Given the description of an element on the screen output the (x, y) to click on. 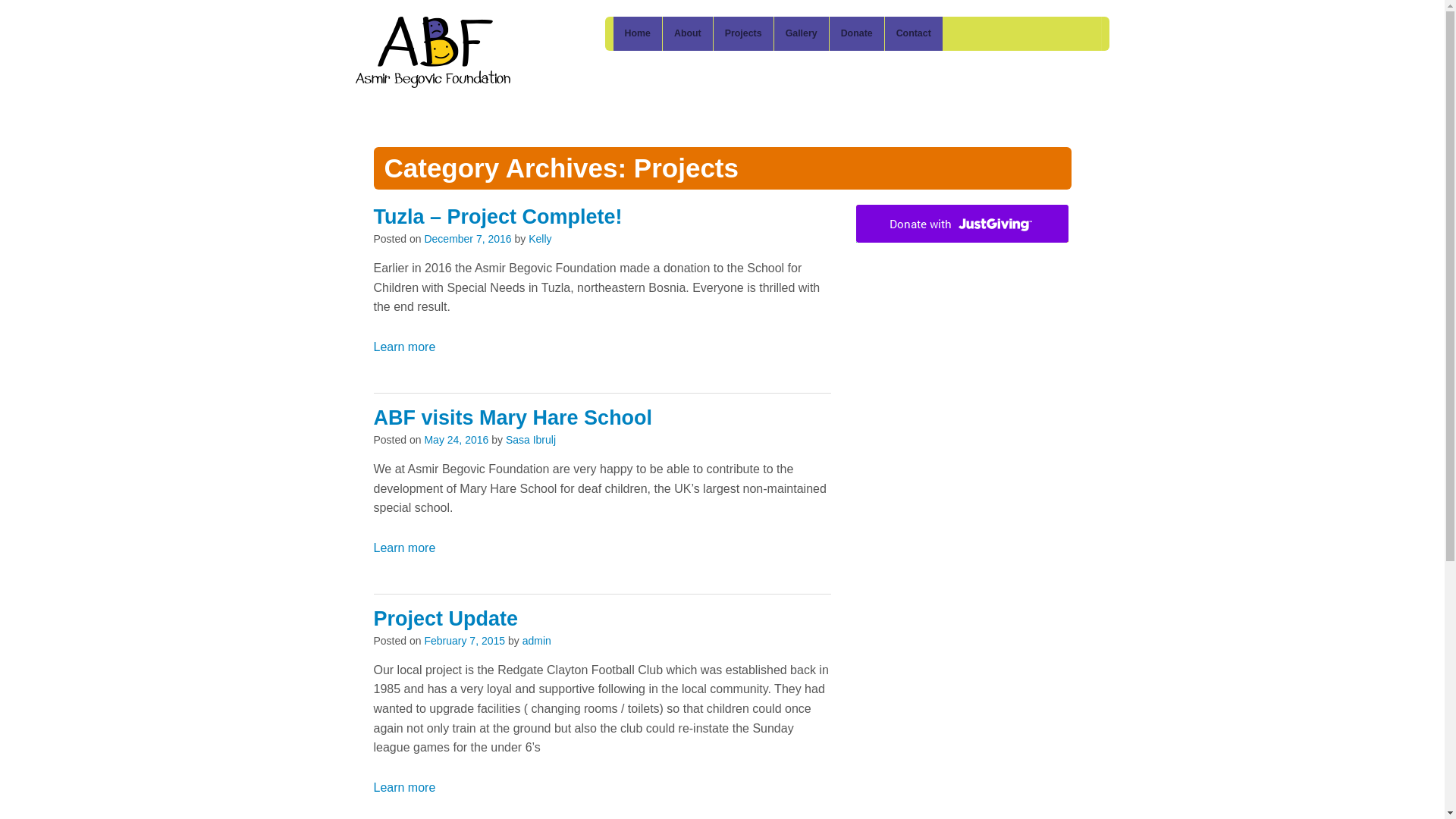
12:13 pm (464, 640)
May 24, 2016 (455, 439)
Home (636, 33)
December 7, 2016 (467, 238)
admin (536, 640)
ABF visits Mary Hare School (512, 417)
View all posts by Kelly (539, 238)
11:22 am (455, 439)
View all posts by Sasa Ibrulj (530, 439)
Project Update (445, 618)
Sasa Ibrulj (530, 439)
Asmir Begovic Foundation (432, 52)
Learn more (403, 346)
Projects (743, 33)
View all posts by admin (536, 640)
